Given the description of an element on the screen output the (x, y) to click on. 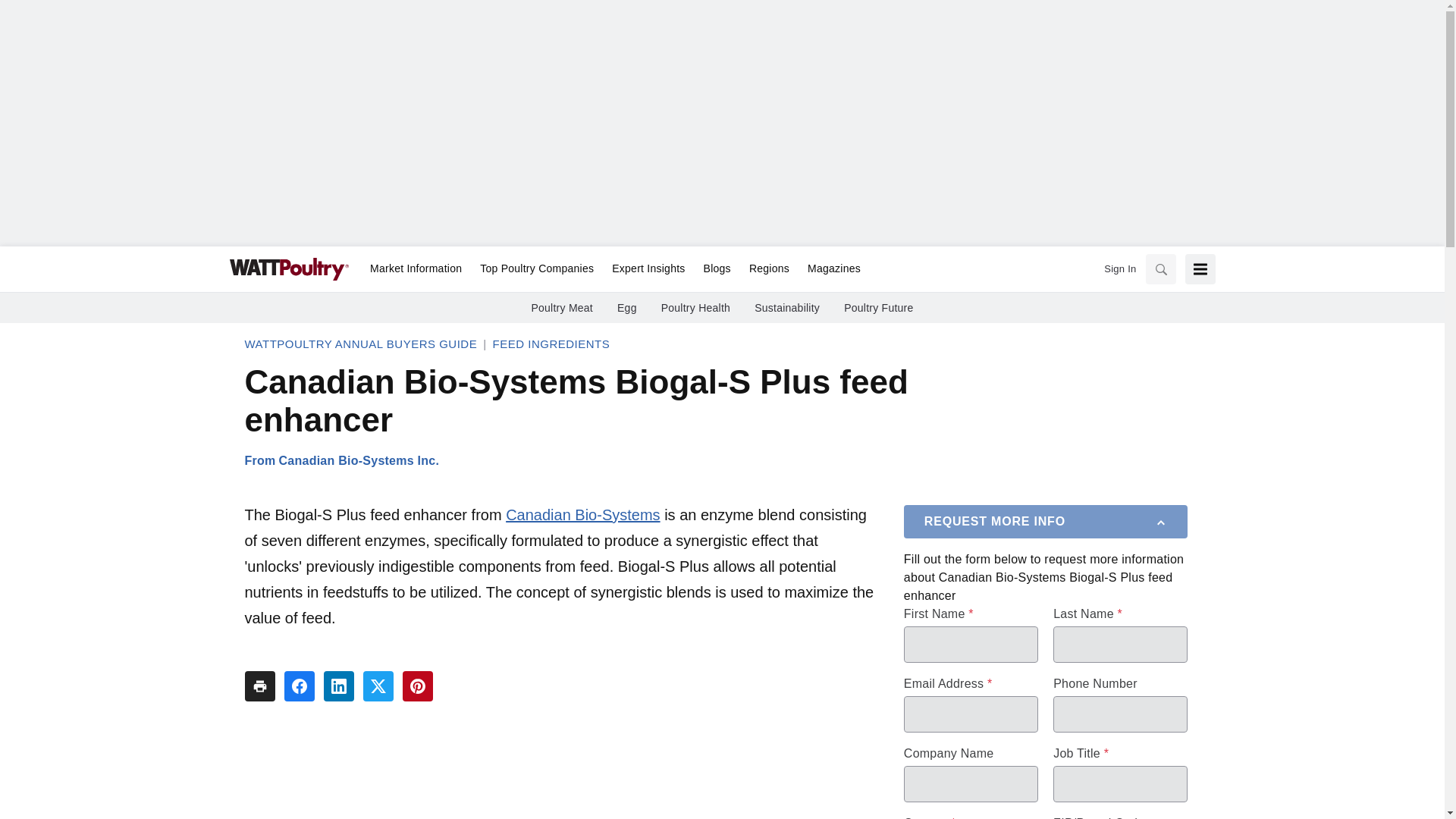
WATTPoultry Annual Buyers Guide (360, 343)
Expert Insights (648, 269)
Sustainability (786, 307)
Blogs (716, 269)
Poultry Meat (561, 307)
Share To pinterest (416, 685)
Share To twitter (377, 685)
Share To facebook (298, 685)
Regions (768, 269)
Feed ingredients (551, 343)
Magazines (828, 269)
Poultry Health (695, 307)
Market Information (415, 269)
Poultry Future (878, 307)
Share To print (259, 685)
